Given the description of an element on the screen output the (x, y) to click on. 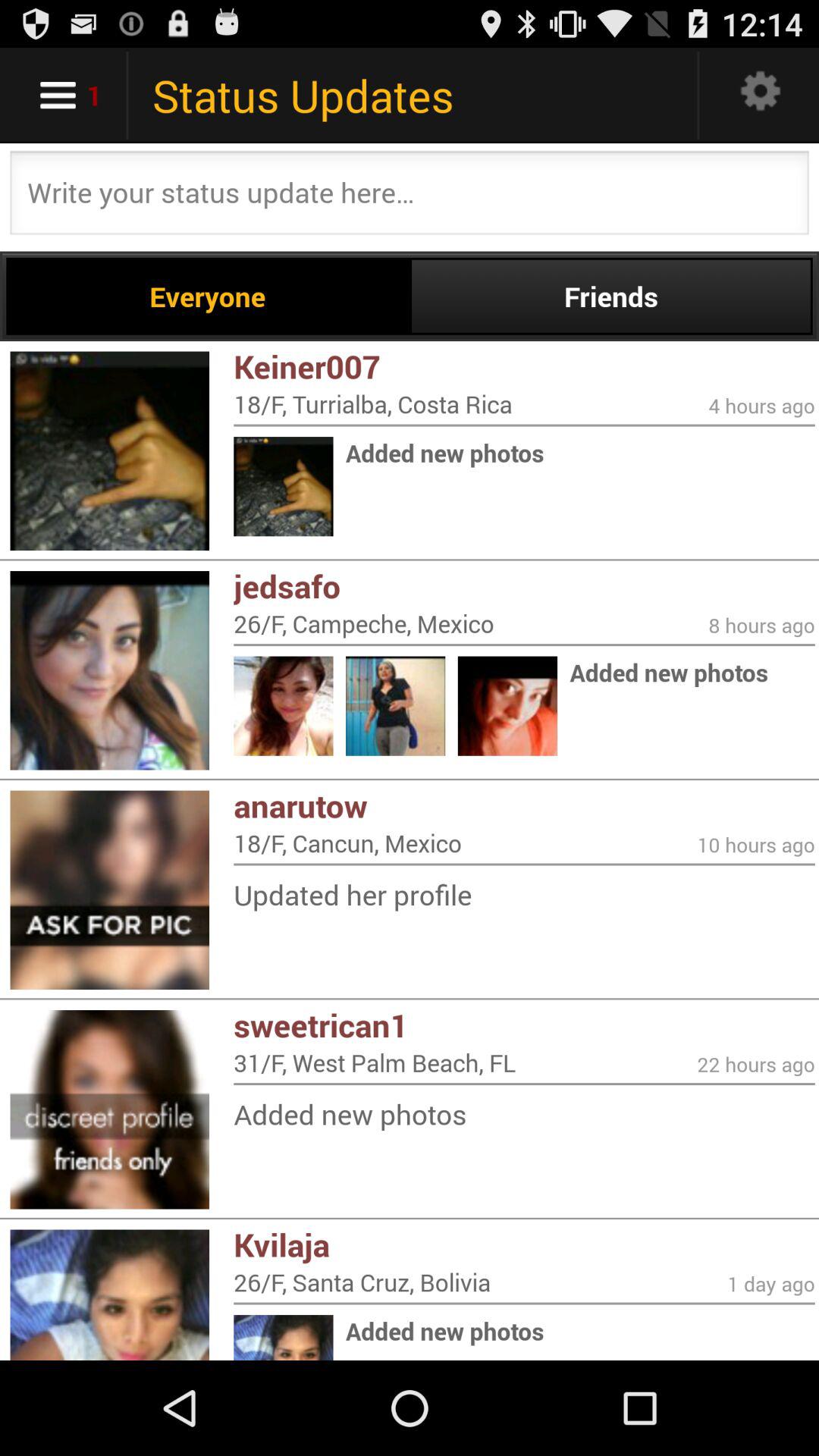
scroll until updated her profile item (524, 894)
